Given the description of an element on the screen output the (x, y) to click on. 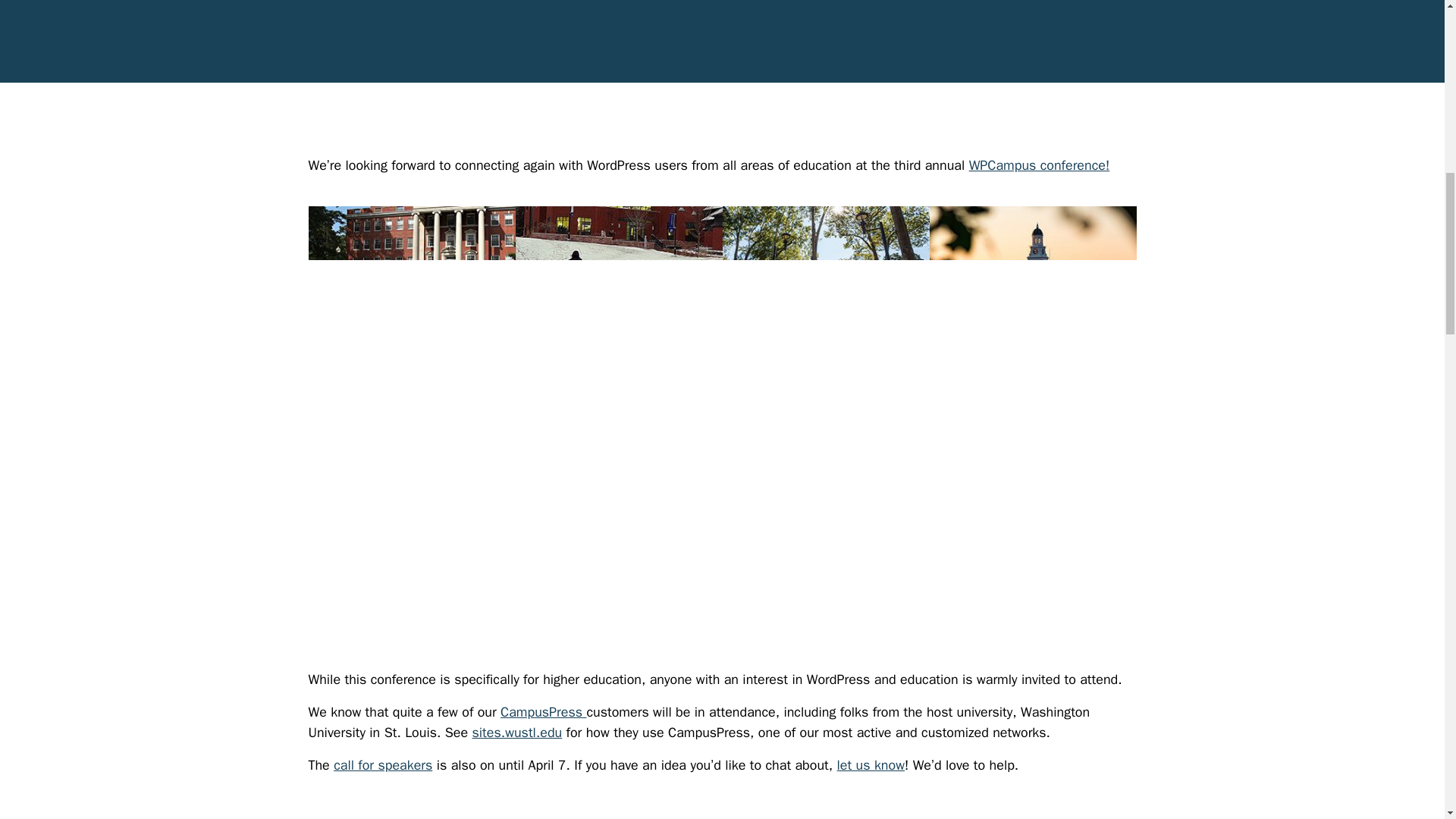
WPCampus conference! (1039, 165)
CampusPress (543, 711)
sites.wustl.edu (516, 732)
let us know (870, 764)
call for speakers (382, 764)
